Given the description of an element on the screen output the (x, y) to click on. 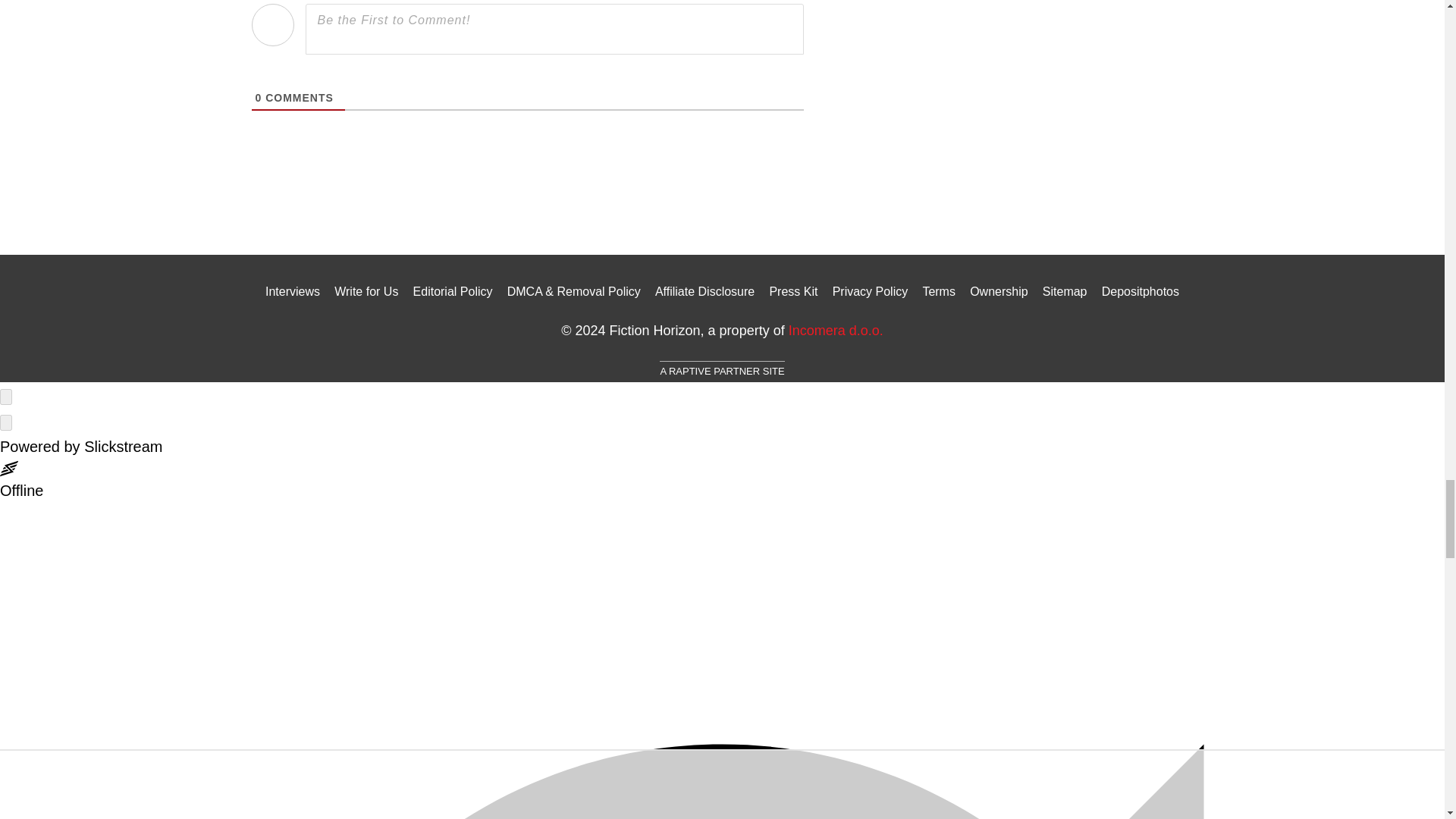
Incomera d.o.o. (836, 330)
